Given the description of an element on the screen output the (x, y) to click on. 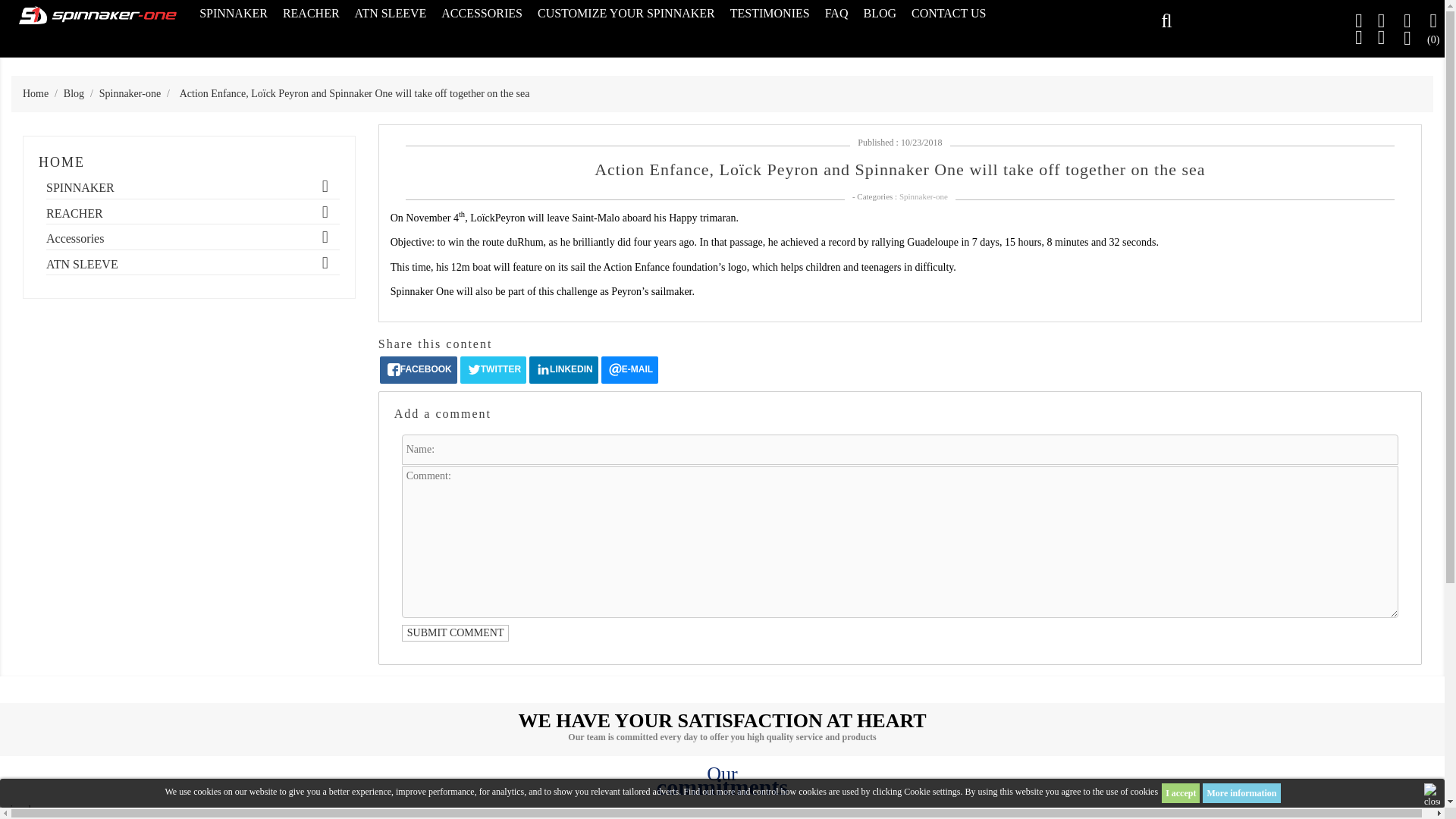
REACHER (192, 216)
BLOG (880, 13)
ACCESSORIES (481, 13)
SPINNAKER (233, 13)
Submit comment (455, 632)
Blog (75, 93)
REACHER (311, 13)
CONTACT US (948, 13)
Home (36, 93)
SPINNAKER (192, 189)
Spinnaker-one (131, 93)
TESTIMONIES (769, 13)
HOME (61, 161)
FAQ (836, 13)
ATN SLEEVE (390, 13)
